Given the description of an element on the screen output the (x, y) to click on. 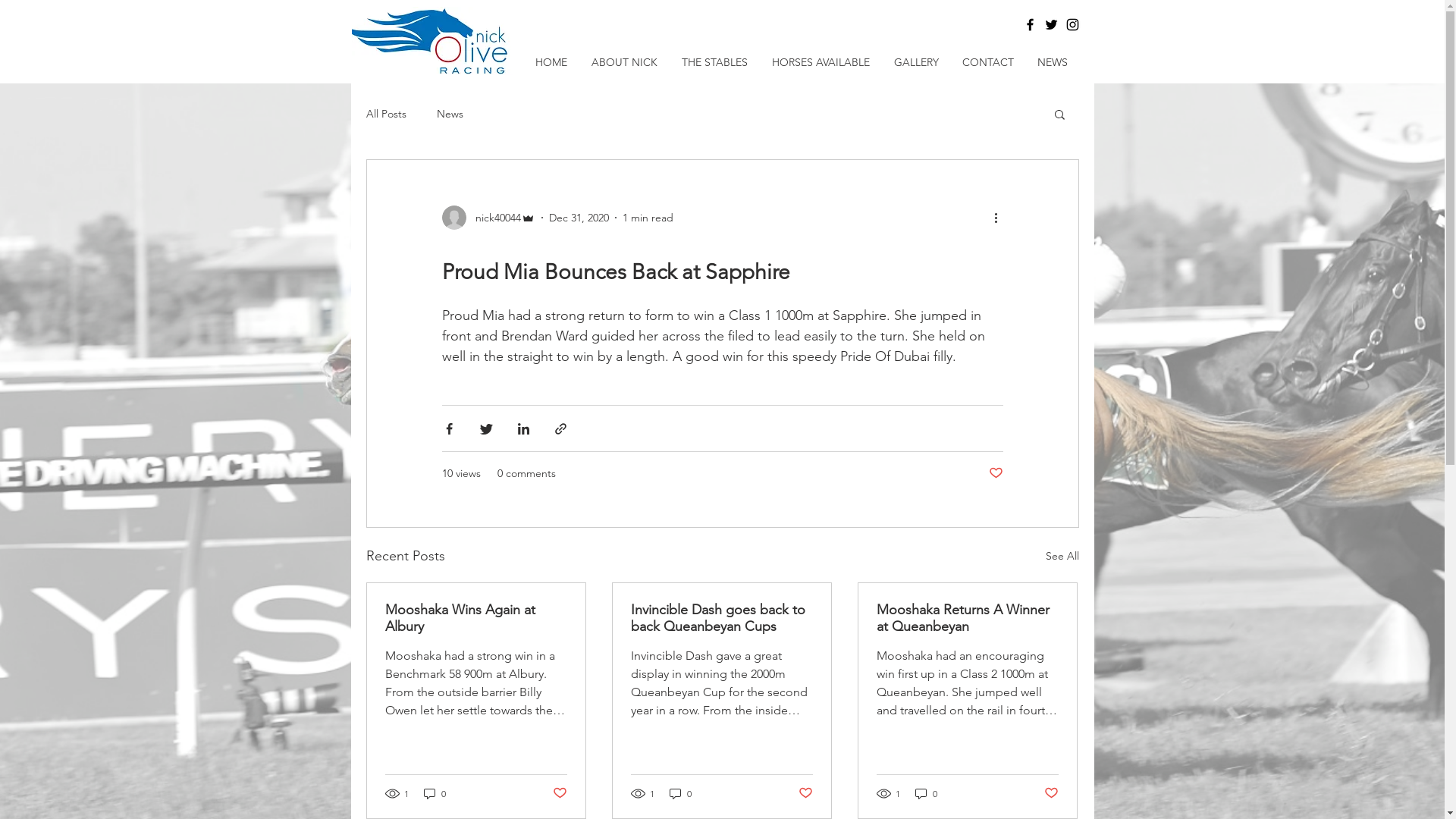
All Posts Element type: text (385, 113)
Post not marked as liked Element type: text (995, 473)
ABOUT NICK Element type: text (624, 62)
Invincible Dash goes back to back Queanbeyan Cups Element type: text (721, 617)
nick40044 Element type: text (487, 217)
GALLERY Element type: text (915, 62)
0 Element type: text (679, 792)
Mooshaka Returns A Winner at Queanbeyan Element type: text (967, 617)
NEWS Element type: text (1052, 62)
THE STABLES Element type: text (713, 62)
HOME Element type: text (551, 62)
0 Element type: text (925, 792)
Post not marked as liked Element type: text (804, 793)
News Element type: text (449, 113)
Post not marked as liked Element type: text (1050, 793)
See All Element type: text (1061, 556)
Mooshaka Wins Again at Albury Element type: text (476, 617)
Post not marked as liked Element type: text (559, 793)
HORSES AVAILABLE Element type: text (820, 62)
CONTACT Element type: text (988, 62)
0 Element type: text (433, 792)
